Given the description of an element on the screen output the (x, y) to click on. 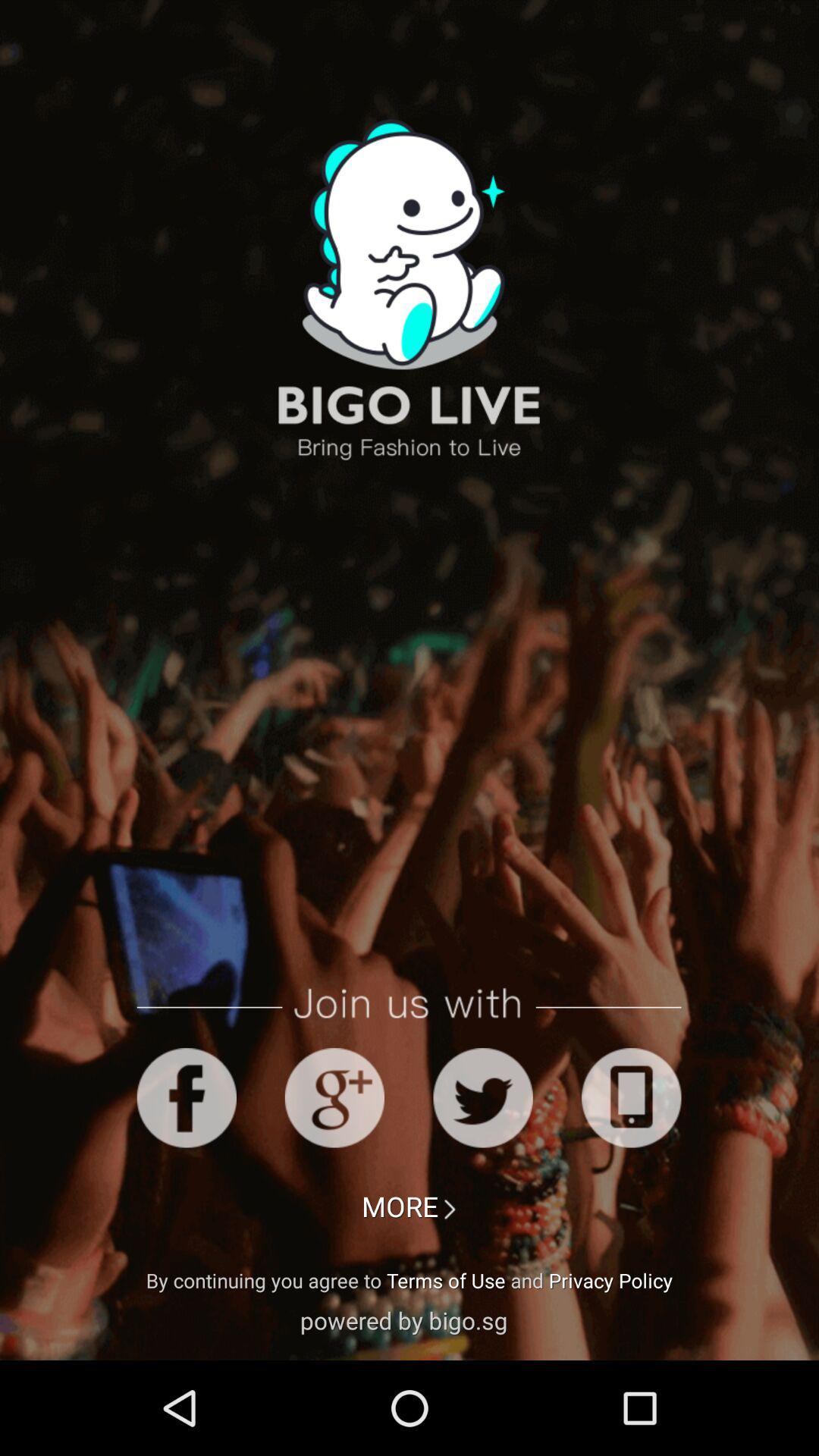
share via facebook (186, 1097)
